Given the description of an element on the screen output the (x, y) to click on. 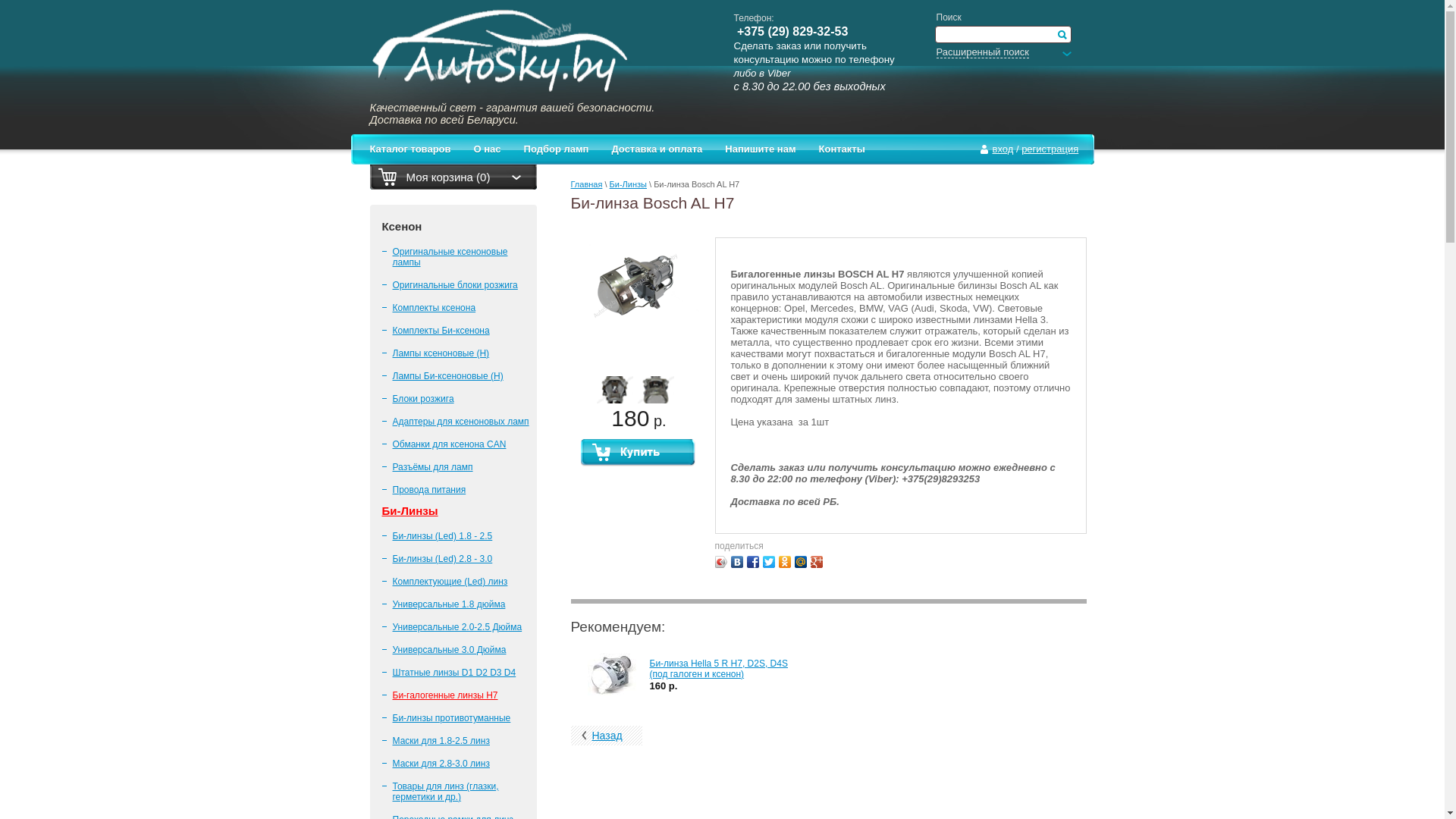
Facebook Element type: hover (752, 561)
Twitter Element type: hover (769, 561)
Google Plus Element type: hover (816, 561)
